Given the description of an element on the screen output the (x, y) to click on. 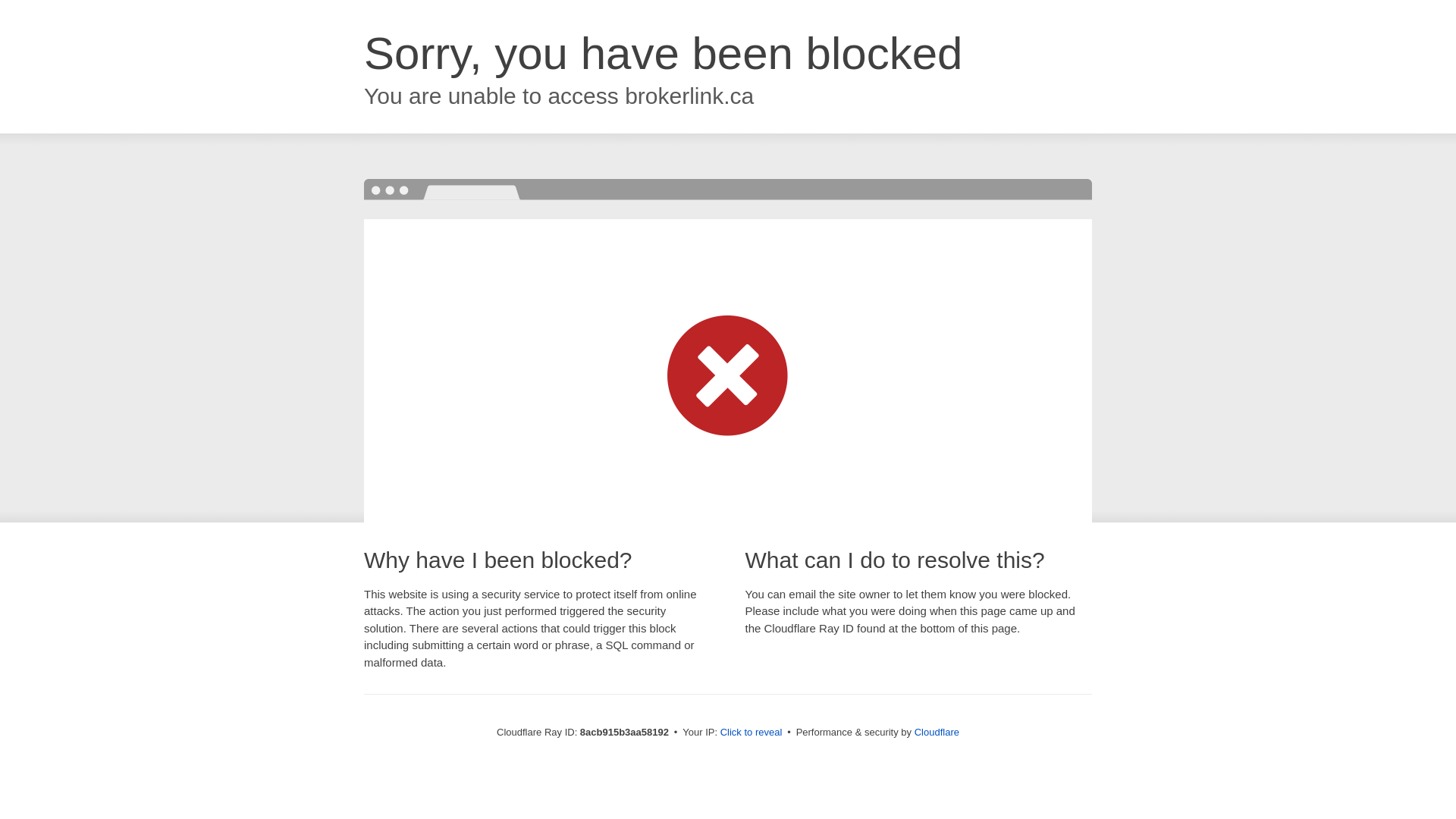
Cloudflare (936, 731)
Click to reveal (751, 732)
